Given the description of an element on the screen output the (x, y) to click on. 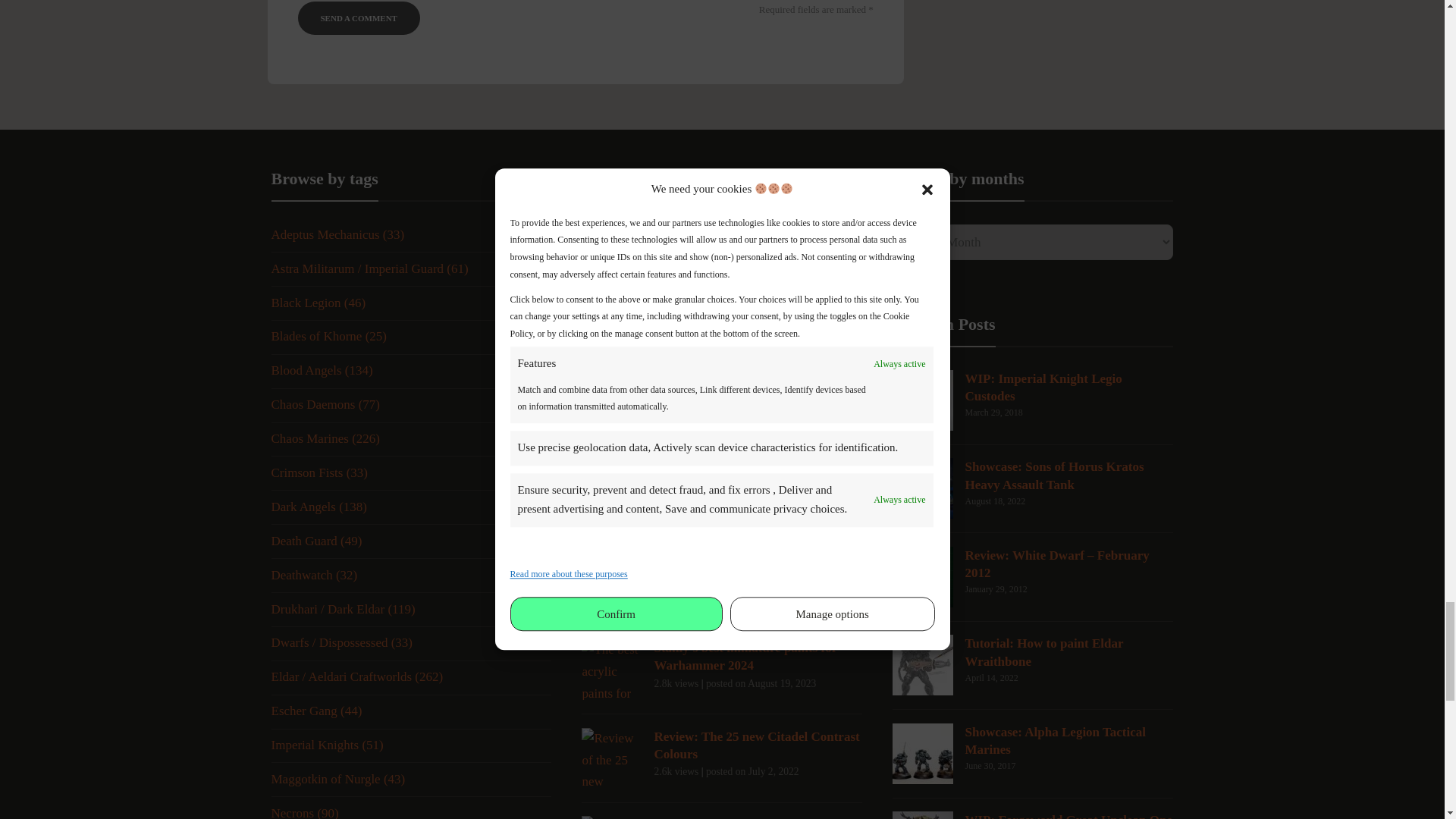
Send a comment (358, 18)
